Given the description of an element on the screen output the (x, y) to click on. 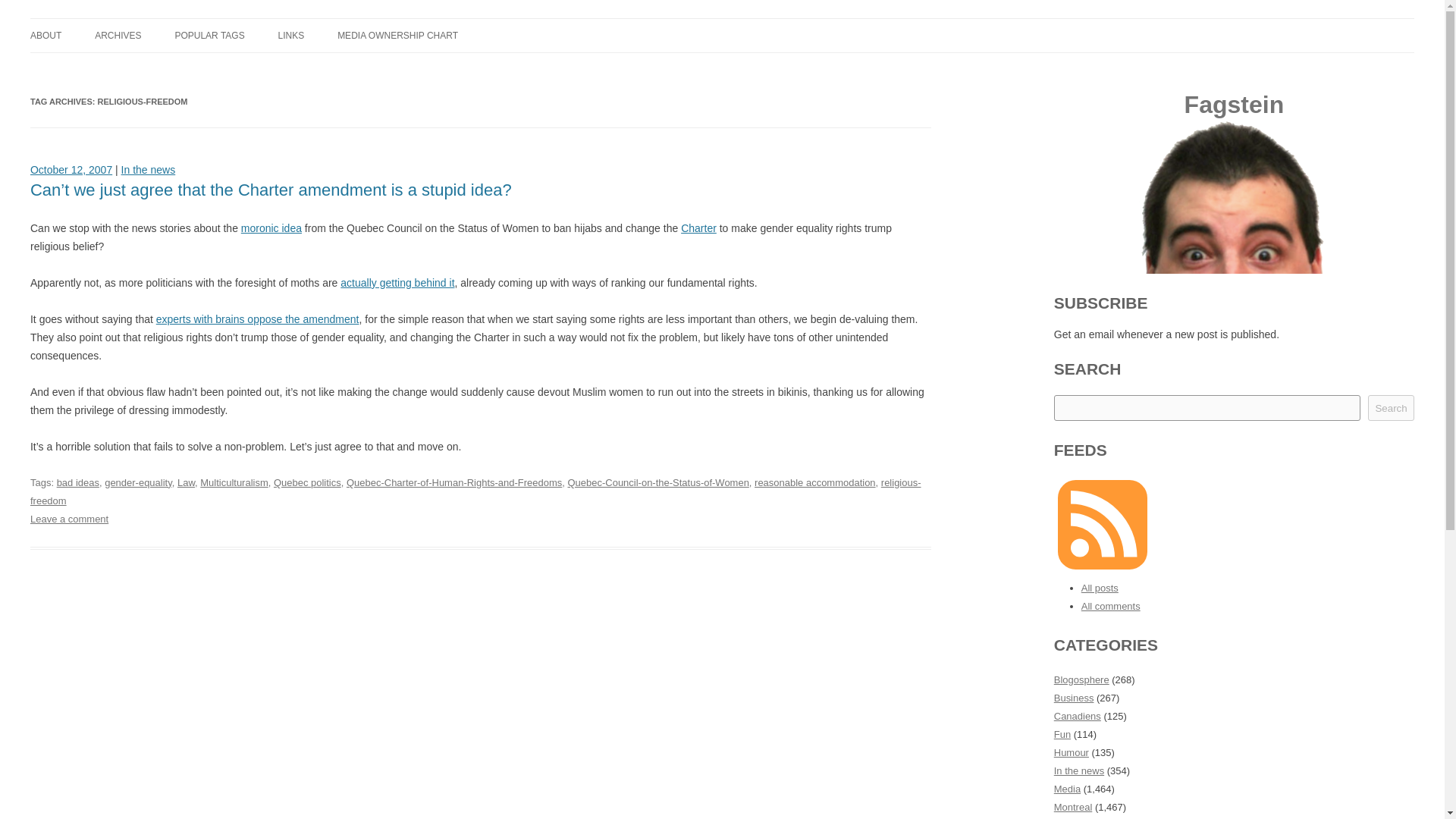
October 12, 2007 (71, 169)
POPULAR TAGS (209, 35)
gender-equality (137, 482)
religious-freedom (475, 491)
In the news (148, 169)
experts with brains oppose the amendment (257, 318)
Media (1067, 788)
Humour (1071, 752)
MEDIA OWNERSHIP CHART (397, 35)
moronic idea (271, 227)
Blogosphere (1081, 679)
Quebec politics (306, 482)
Search (1390, 407)
Quebec-Charter-of-Human-Rights-and-Freedoms (454, 482)
reasonable accommodation (815, 482)
